Given the description of an element on the screen output the (x, y) to click on. 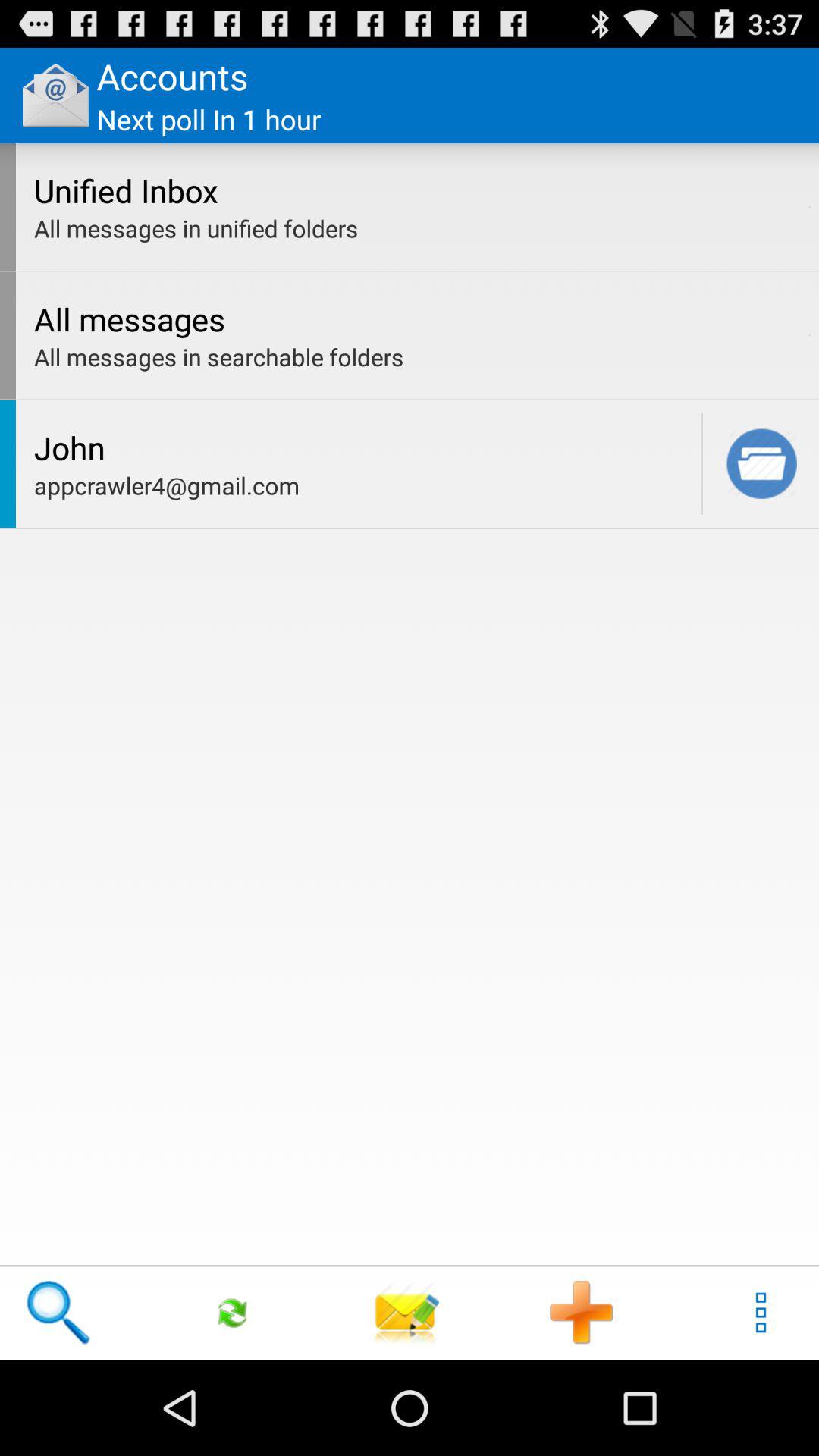
select the icon below appcrawler4@gmail.com (407, 1312)
